Given the description of an element on the screen output the (x, y) to click on. 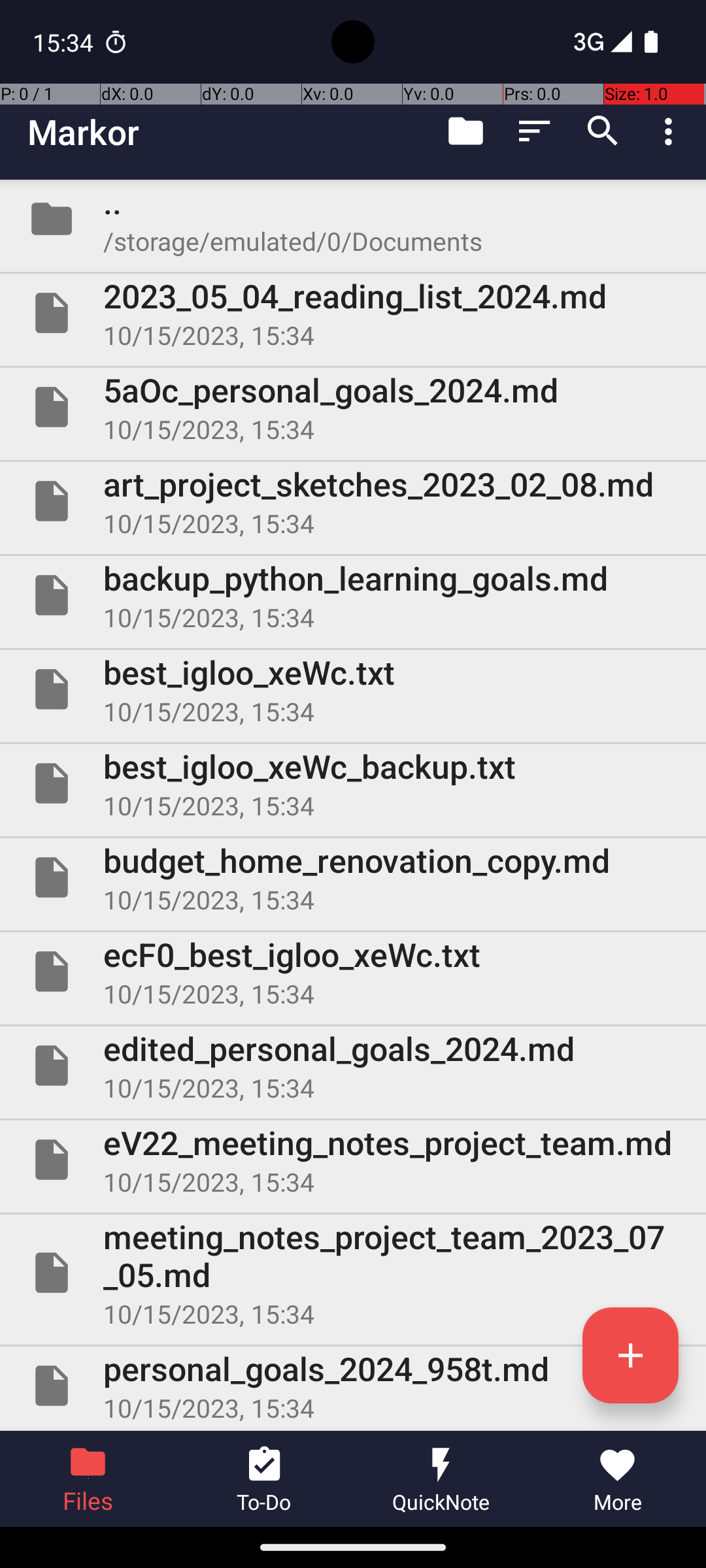
File 2023_05_04_reading_list_2024.md  Element type: android.widget.LinearLayout (353, 312)
File 5aOc_personal_goals_2024.md  Element type: android.widget.LinearLayout (353, 406)
File art_project_sketches_2023_02_08.md  Element type: android.widget.LinearLayout (353, 500)
File backup_python_learning_goals.md  Element type: android.widget.LinearLayout (353, 594)
File best_igloo_xeWc.txt  Element type: android.widget.LinearLayout (353, 689)
File best_igloo_xeWc_backup.txt  Element type: android.widget.LinearLayout (353, 783)
File budget_home_renovation_copy.md  Element type: android.widget.LinearLayout (353, 877)
File ecF0_best_igloo_xeWc.txt  Element type: android.widget.LinearLayout (353, 971)
File edited_personal_goals_2024.md  Element type: android.widget.LinearLayout (353, 1065)
File eV22_meeting_notes_project_team.md  Element type: android.widget.LinearLayout (353, 1159)
File meeting_notes_project_team_2023_07_05.md  Element type: android.widget.LinearLayout (353, 1272)
File personal_goals_2024_958t.md  Element type: android.widget.LinearLayout (353, 1385)
